Given the description of an element on the screen output the (x, y) to click on. 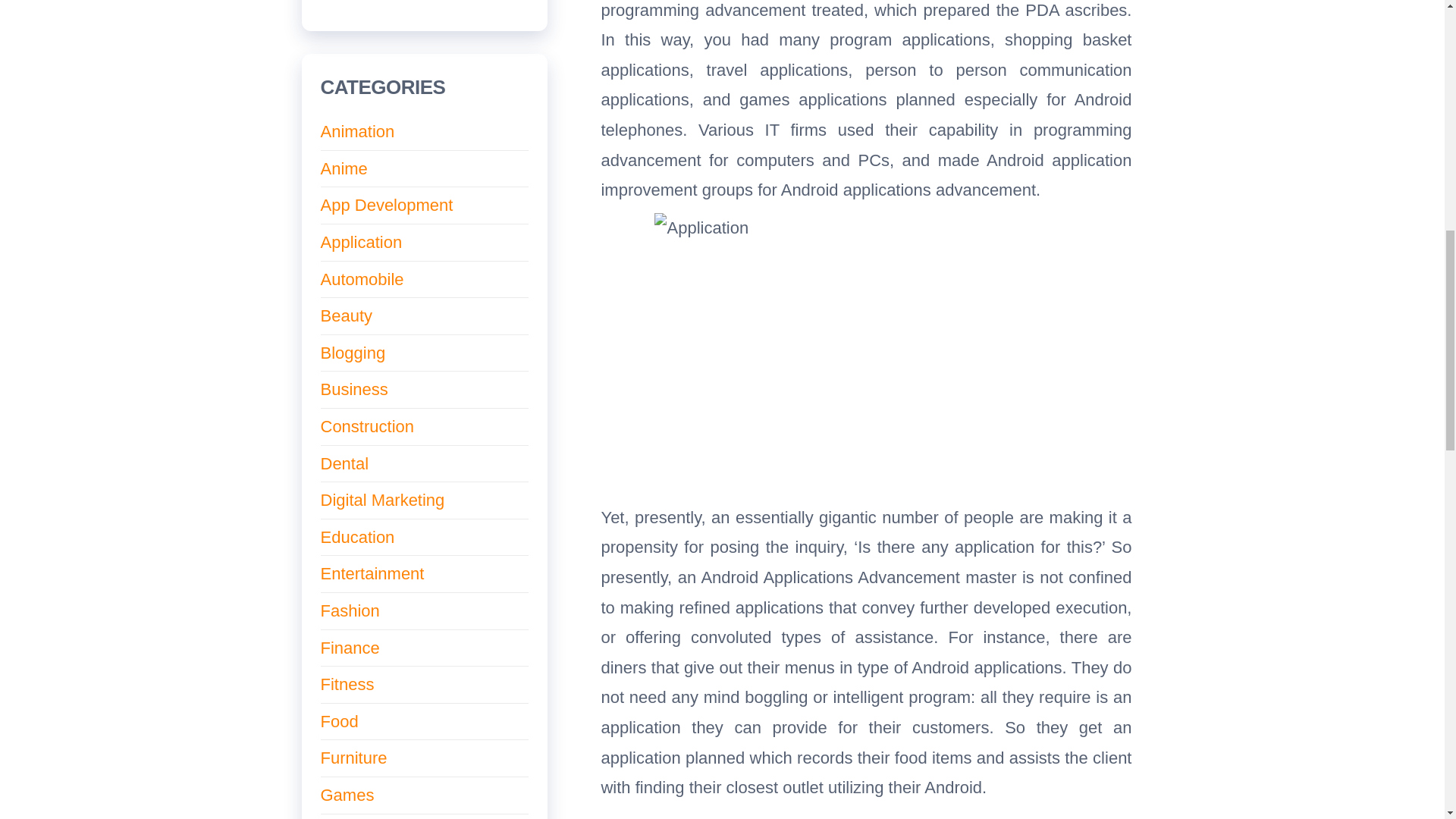
Blogging (352, 352)
Furniture (353, 757)
Fashion (349, 610)
Automobile (361, 279)
Finance (349, 647)
Entertainment (371, 573)
Application (360, 241)
Games (347, 794)
App Development (386, 204)
Fitness (347, 683)
